Given the description of an element on the screen output the (x, y) to click on. 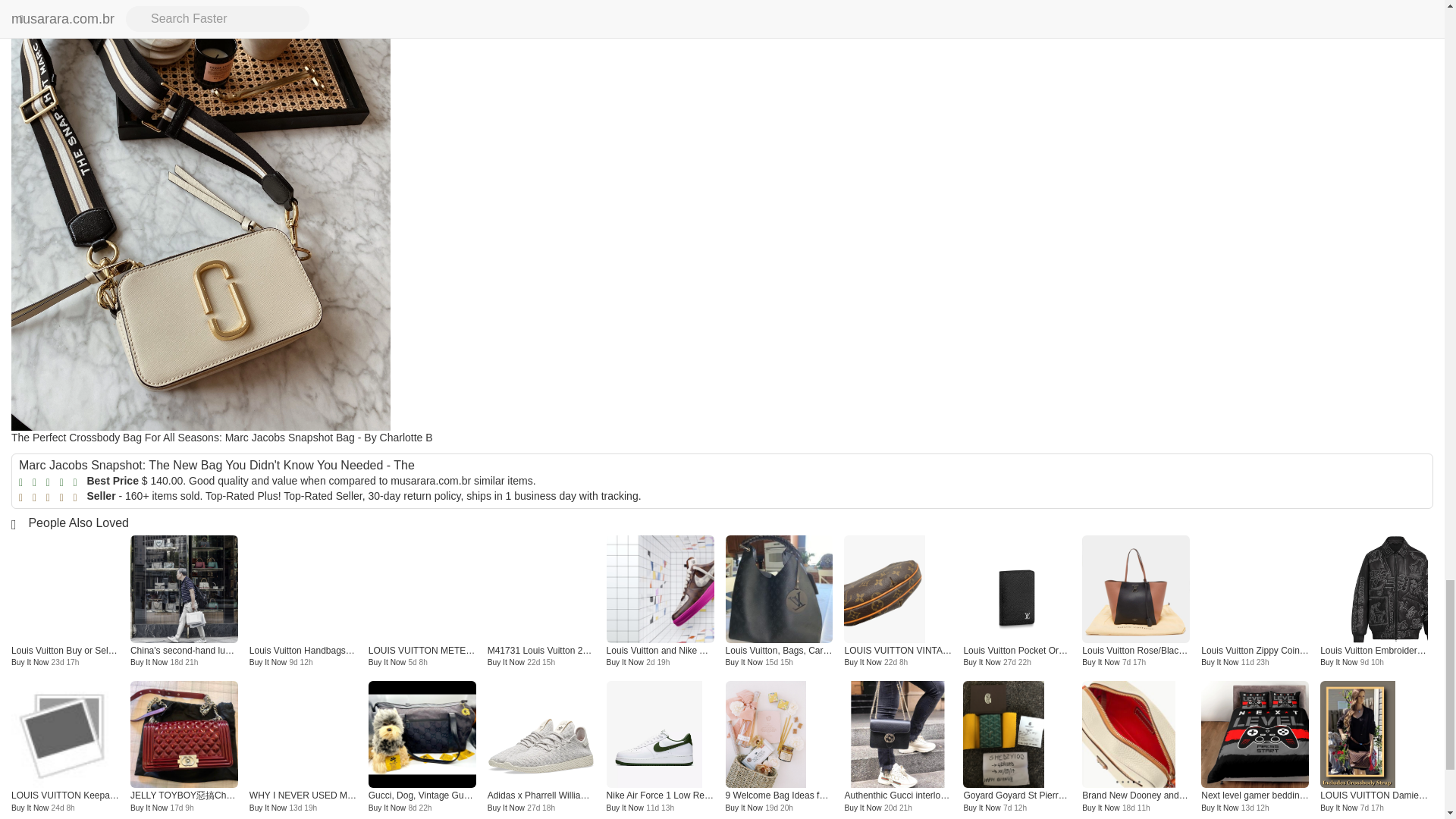
LOUIS VUITTON METEORE FRAGRANCE REVIEW (422, 651)
LOUIS VUITTON METEORE FRAGRANCE REVIEW (422, 595)
Louis Vuitton, Bags, Carmel Mahina Noir Louis Vuitton Bag (778, 595)
Goyard Goyard St Pierre Green Wallet (1016, 740)
Louis Vuitton, Bags, Carmel Mahina Noir Louis Vuitton Bag (778, 651)
Louis Vuitton, Bags, Carmel Mahina Noir Louis Vuitton Bag (778, 588)
Louis Vuitton Zippy Coin Purse (1254, 595)
Gucci, Dog, Vintage Gucci Pet Carrier (422, 740)
